Given the description of an element on the screen output the (x, y) to click on. 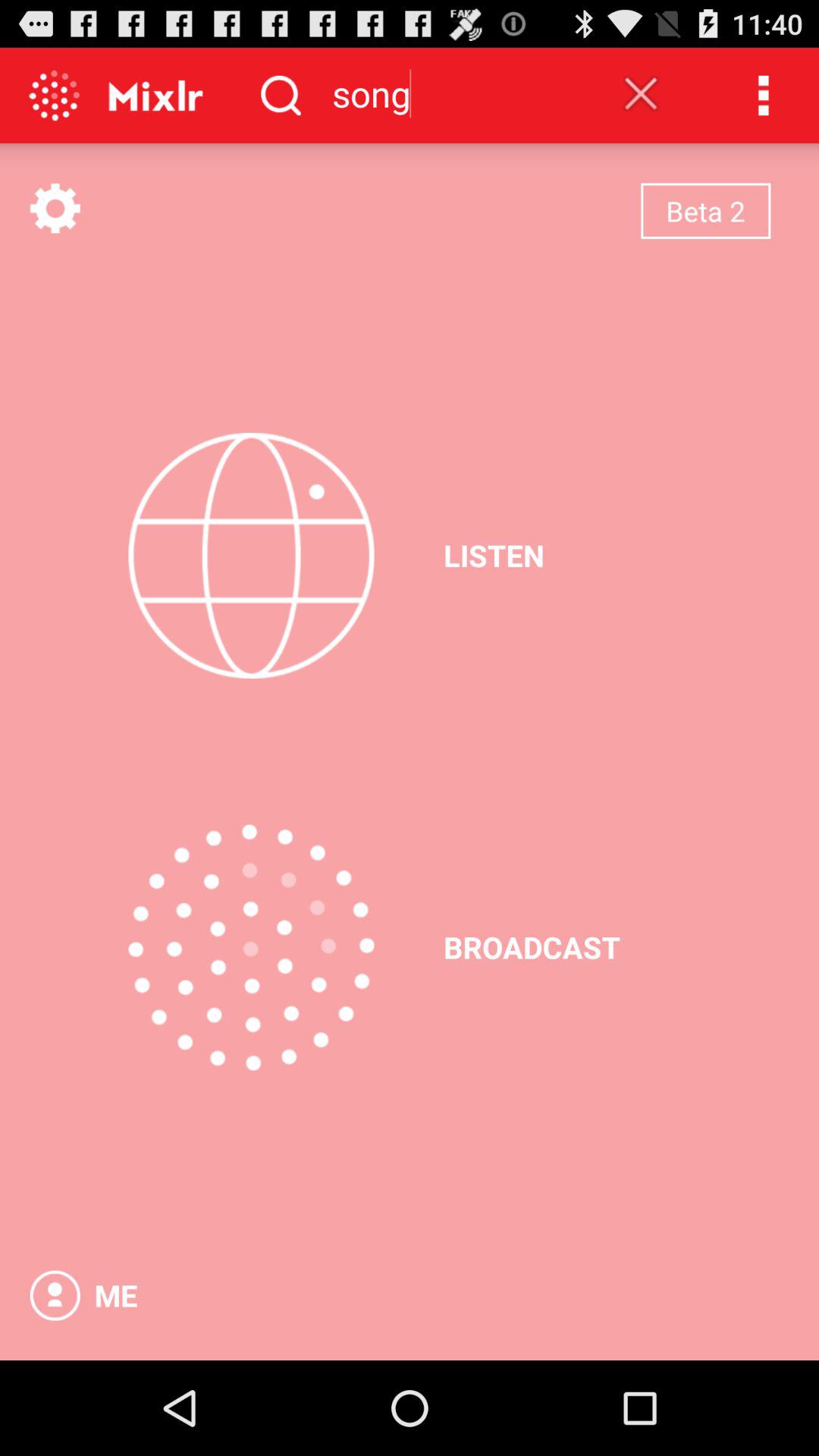
scroll until the song icon (454, 93)
